Given the description of an element on the screen output the (x, y) to click on. 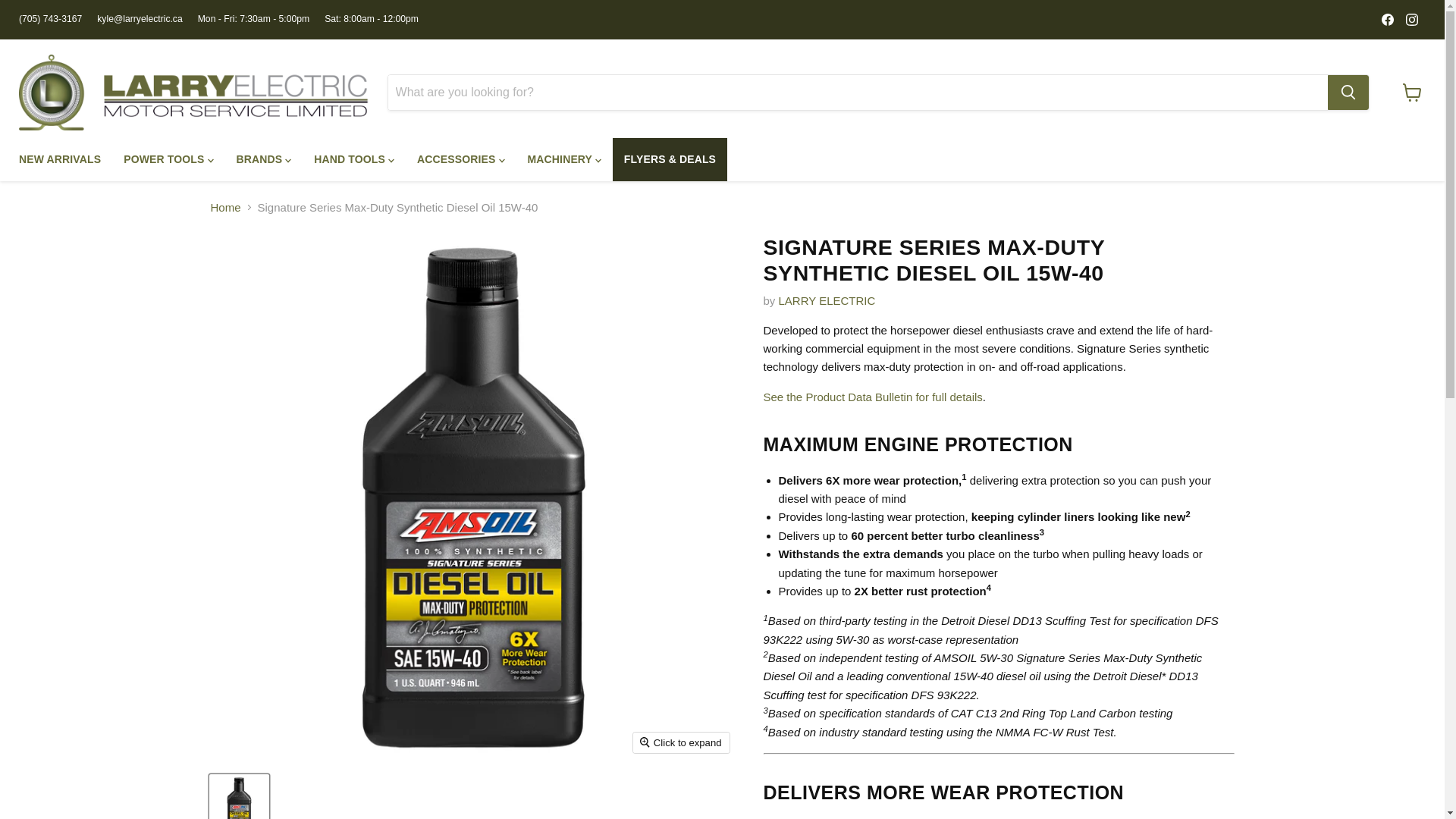
Facebook (1387, 19)
NEW ARRIVALS (59, 159)
Find us on Facebook (1387, 19)
Instagram (1411, 19)
Sat: 8:00am - 12:00pm (371, 18)
Mon - Fri: 7:30am - 5:00pm (253, 18)
Find us on Instagram (1411, 19)
LARRY ELECTRIC (827, 300)
View cart (1411, 92)
